Given the description of an element on the screen output the (x, y) to click on. 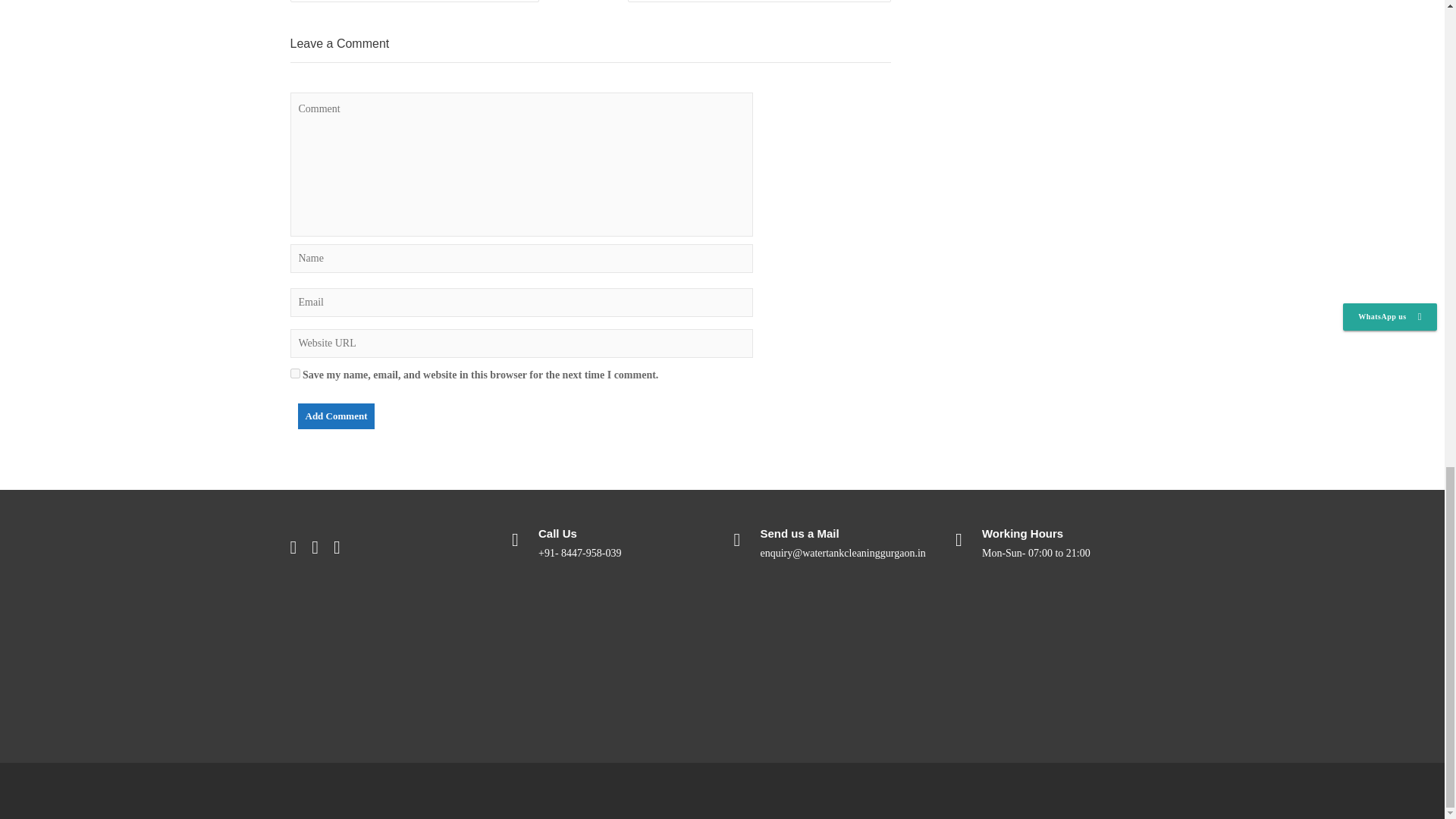
yes (294, 373)
Add Comment (335, 416)
Add Comment (335, 416)
